Given the description of an element on the screen output the (x, y) to click on. 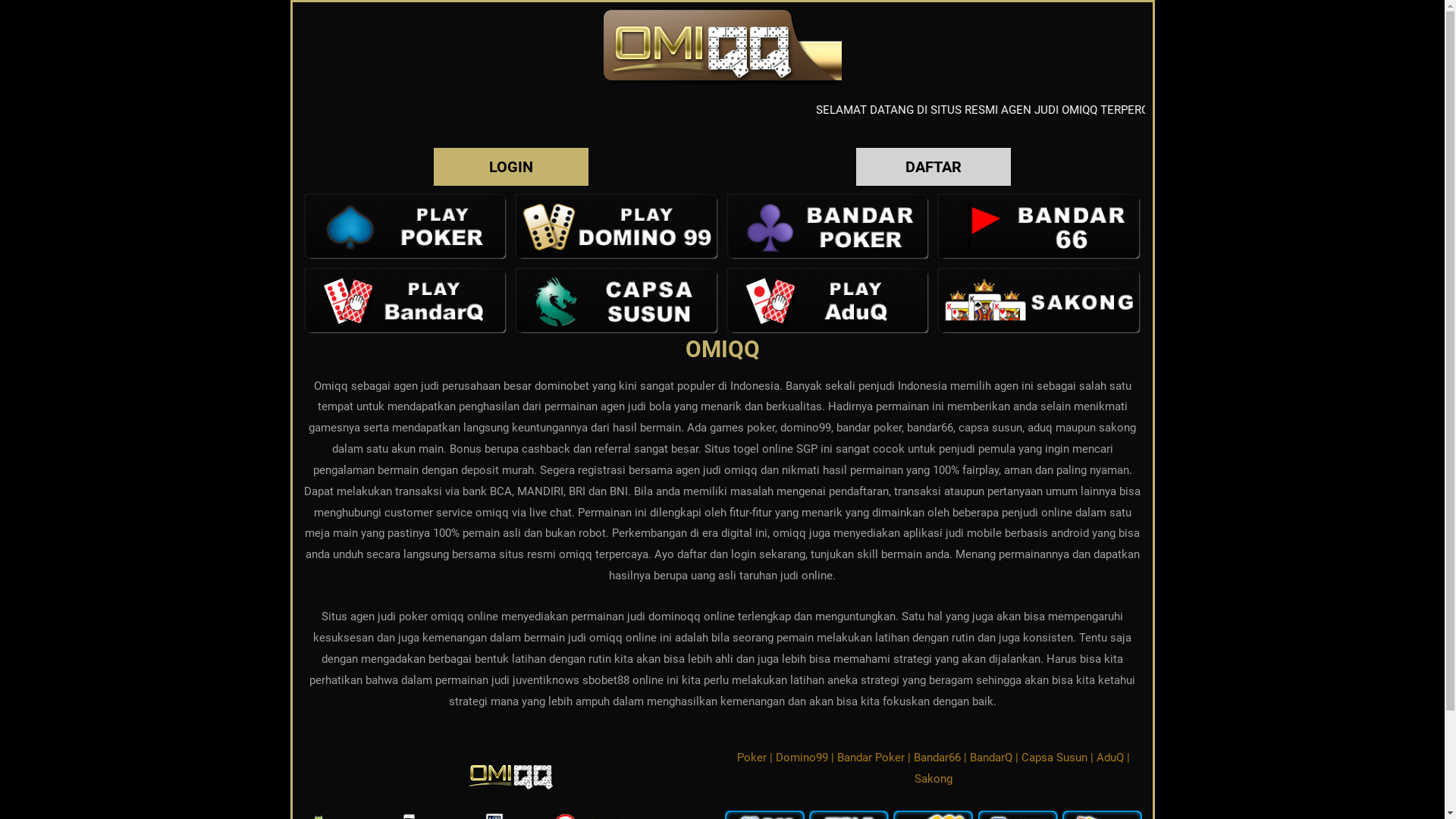
togel online SGP Element type: text (774, 448)
juventiknows sbobet88 Element type: text (570, 680)
DAFTAR Element type: text (933, 166)
LOGIN Element type: text (510, 166)
agen judi bola Element type: text (635, 406)
